Given the description of an element on the screen output the (x, y) to click on. 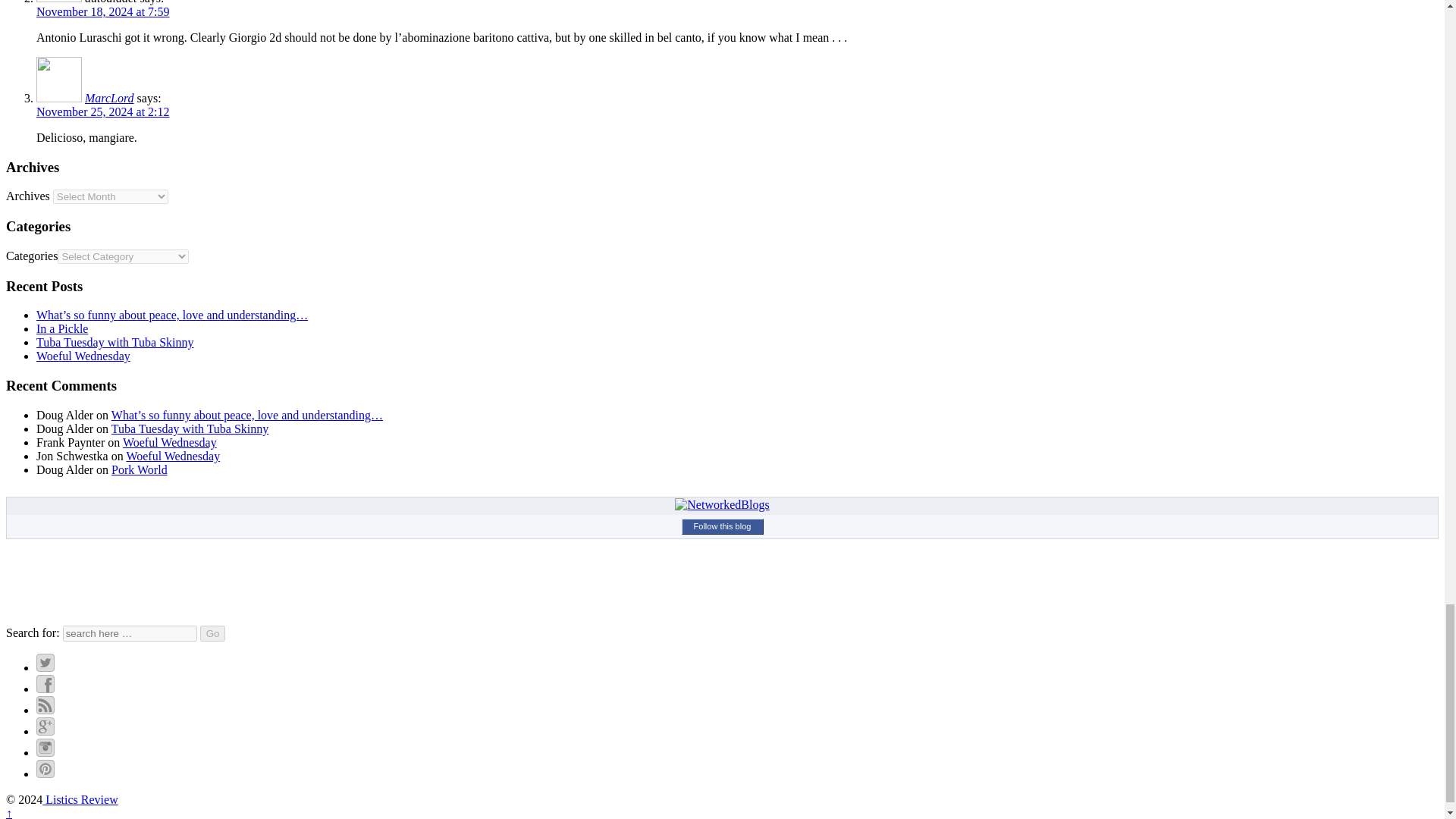
In a Pickle (61, 328)
Go (212, 633)
Woeful Wednesday (83, 355)
Woeful Wednesday (172, 455)
NetworkedBlogs (721, 504)
Pork World (139, 469)
Listics Review (79, 799)
Follow this blog (721, 526)
NetworkedBlogs (721, 504)
Tuba Tuesday with Tuba Skinny (114, 341)
